Given the description of an element on the screen output the (x, y) to click on. 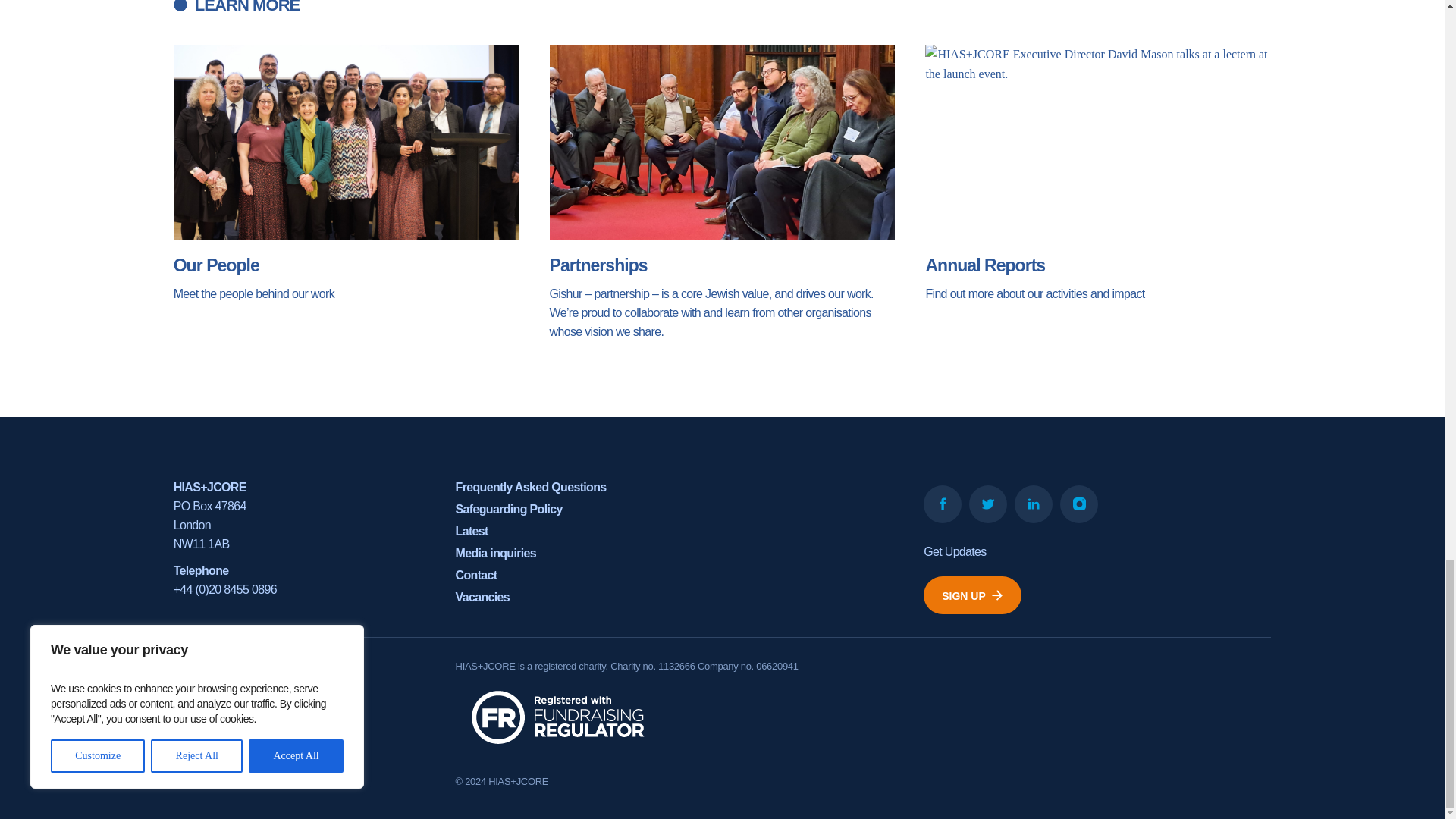
Annual Reports (1097, 173)
Our People (346, 173)
Partnerships (722, 192)
